Given the description of an element on the screen output the (x, y) to click on. 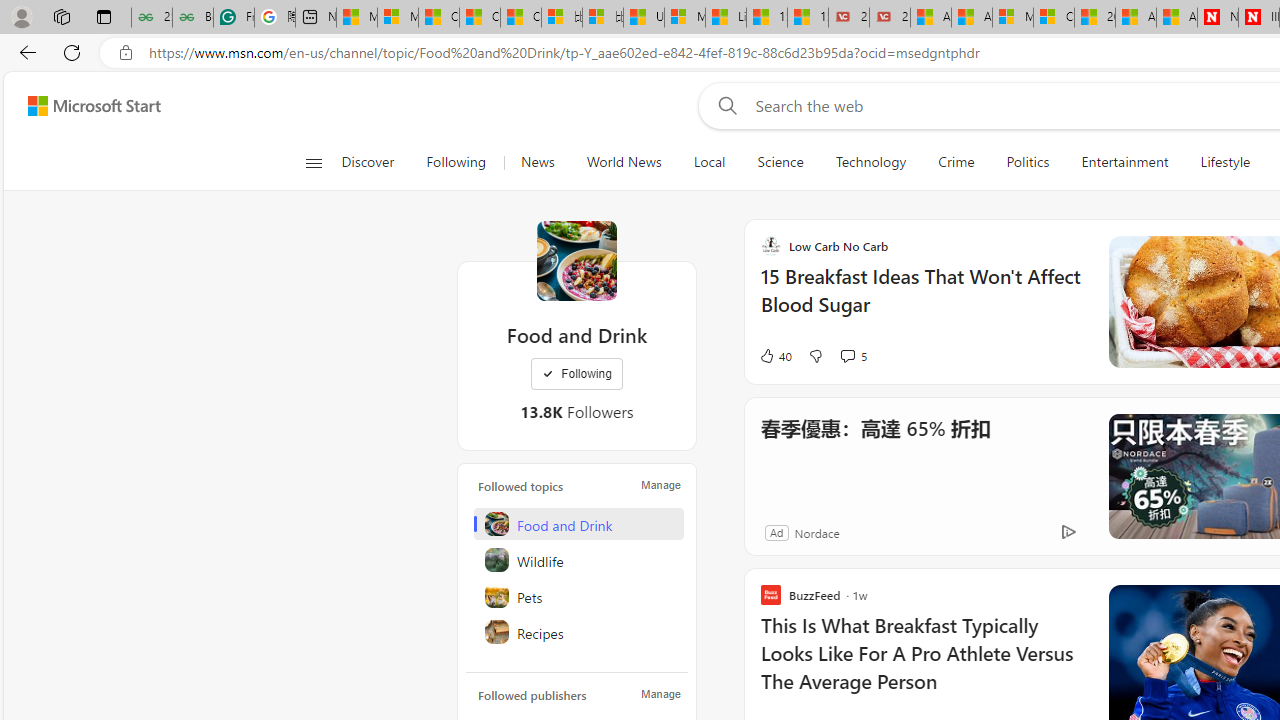
Food and Drink (578, 524)
15 Ways Modern Life Contradicts the Teachings of Jesus (808, 17)
